Given the description of an element on the screen output the (x, y) to click on. 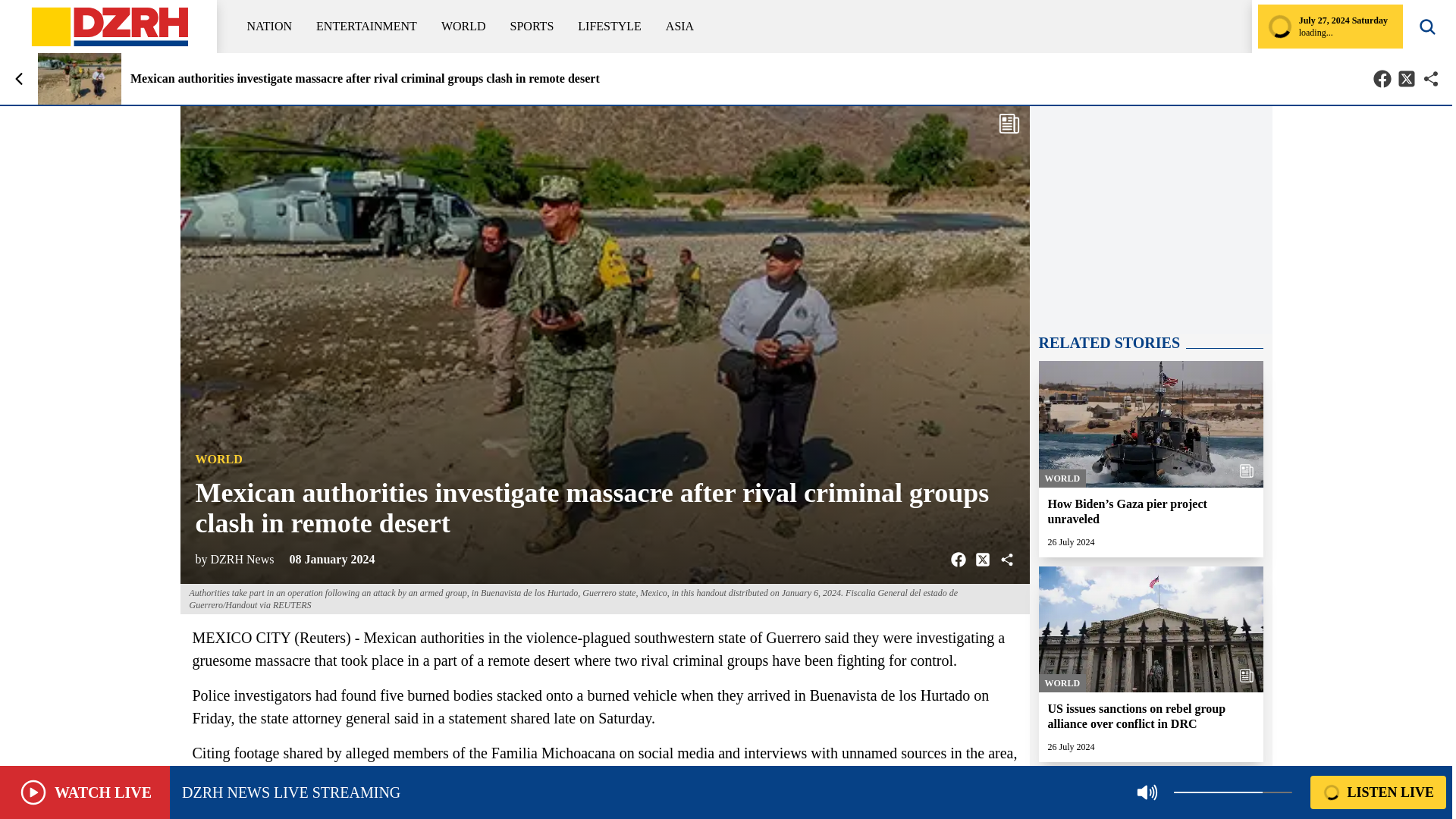
LIFESTYLE (610, 25)
SPORTS (532, 25)
ENTERTAINMENT (365, 25)
ASIA (679, 25)
WORLD (463, 25)
NATION (269, 25)
